Given the description of an element on the screen output the (x, y) to click on. 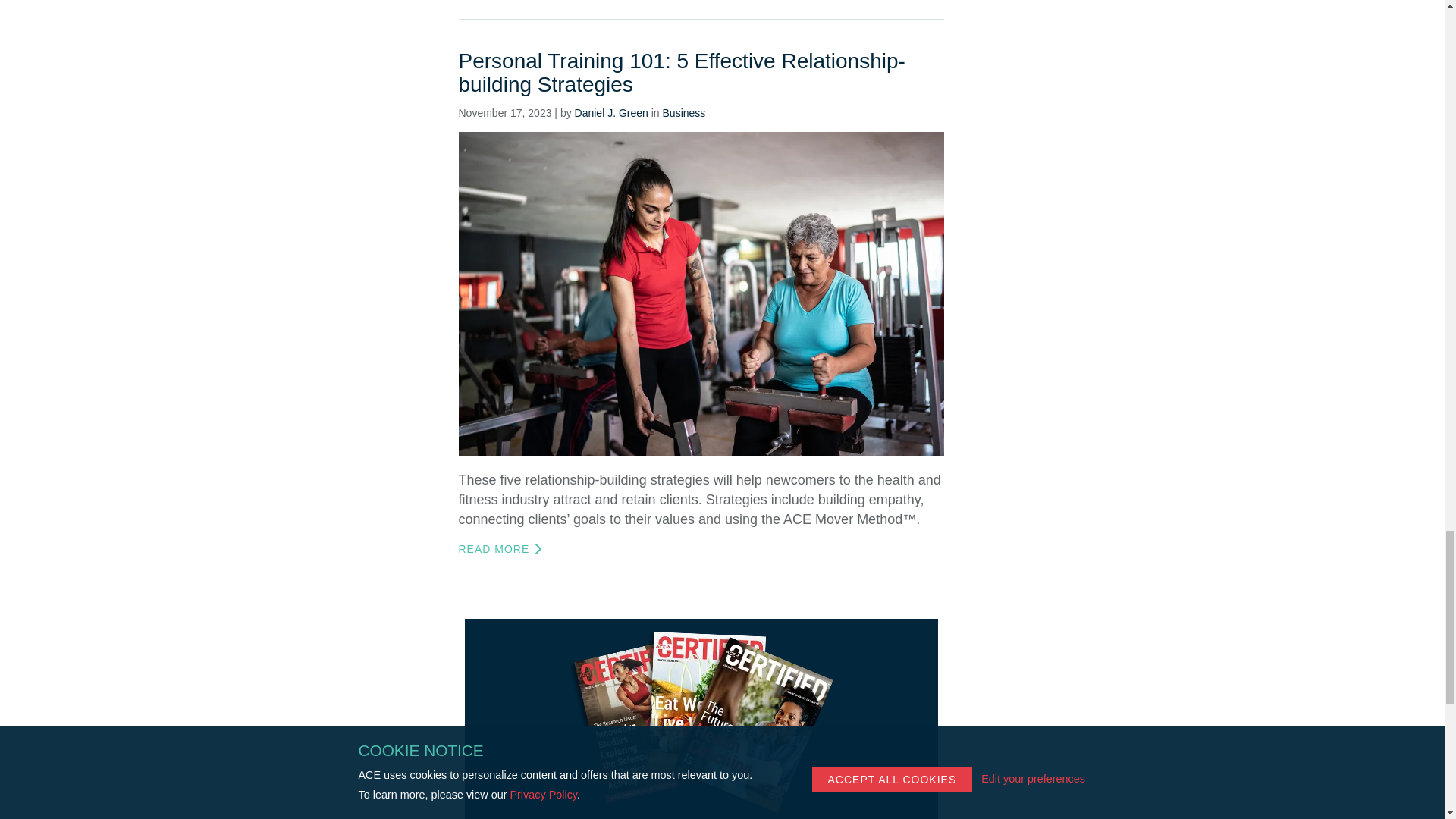
Business (684, 112)
